Given the description of an element on the screen output the (x, y) to click on. 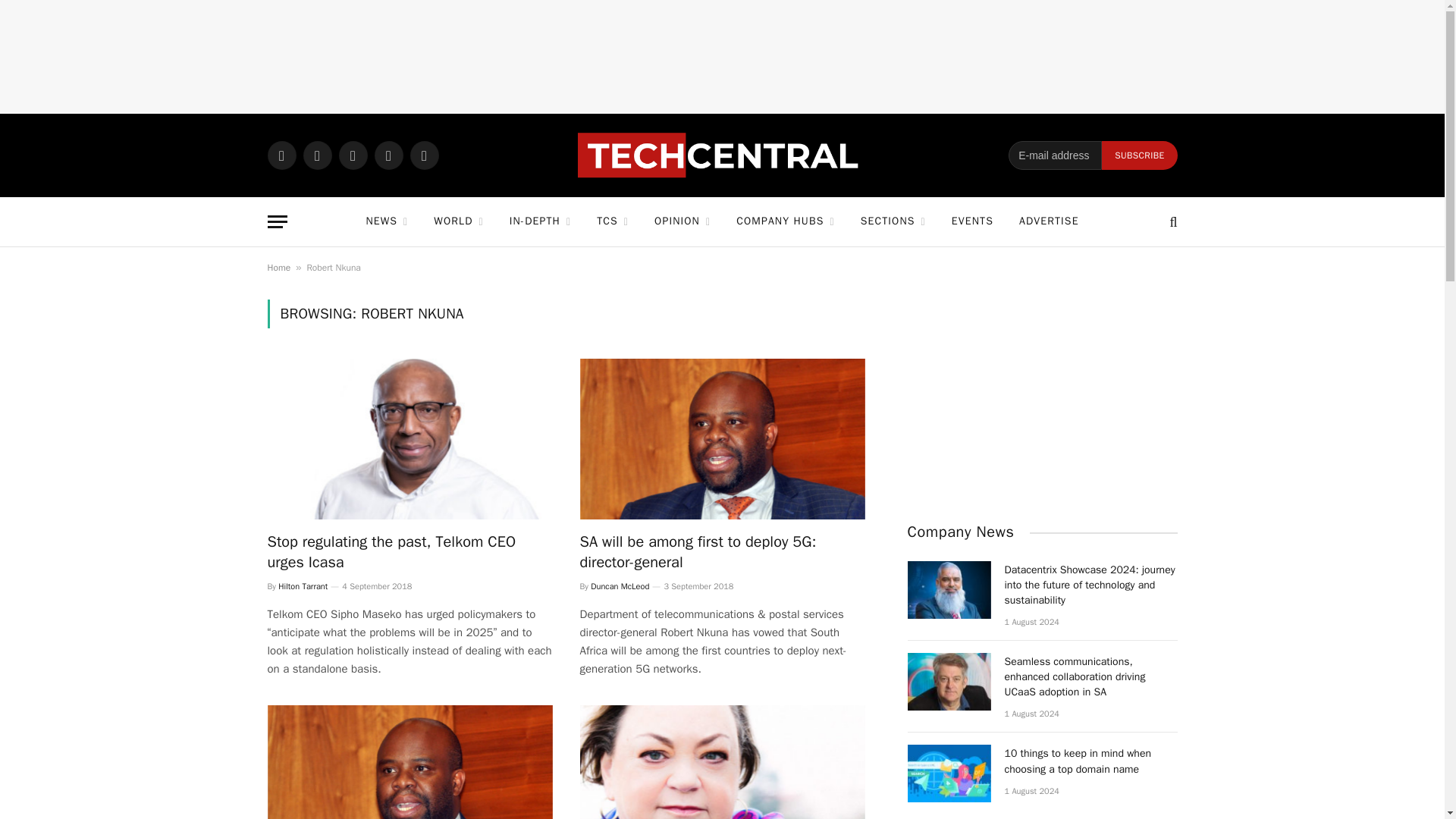
Subscribe (1139, 154)
WORLD (458, 221)
TechCentral (722, 155)
WhatsApp (280, 154)
IN-DEPTH (539, 221)
Subscribe (1139, 154)
3rd party ad content (721, 56)
LinkedIn (388, 154)
Facebook (316, 154)
YouTube (423, 154)
